Given the description of an element on the screen output the (x, y) to click on. 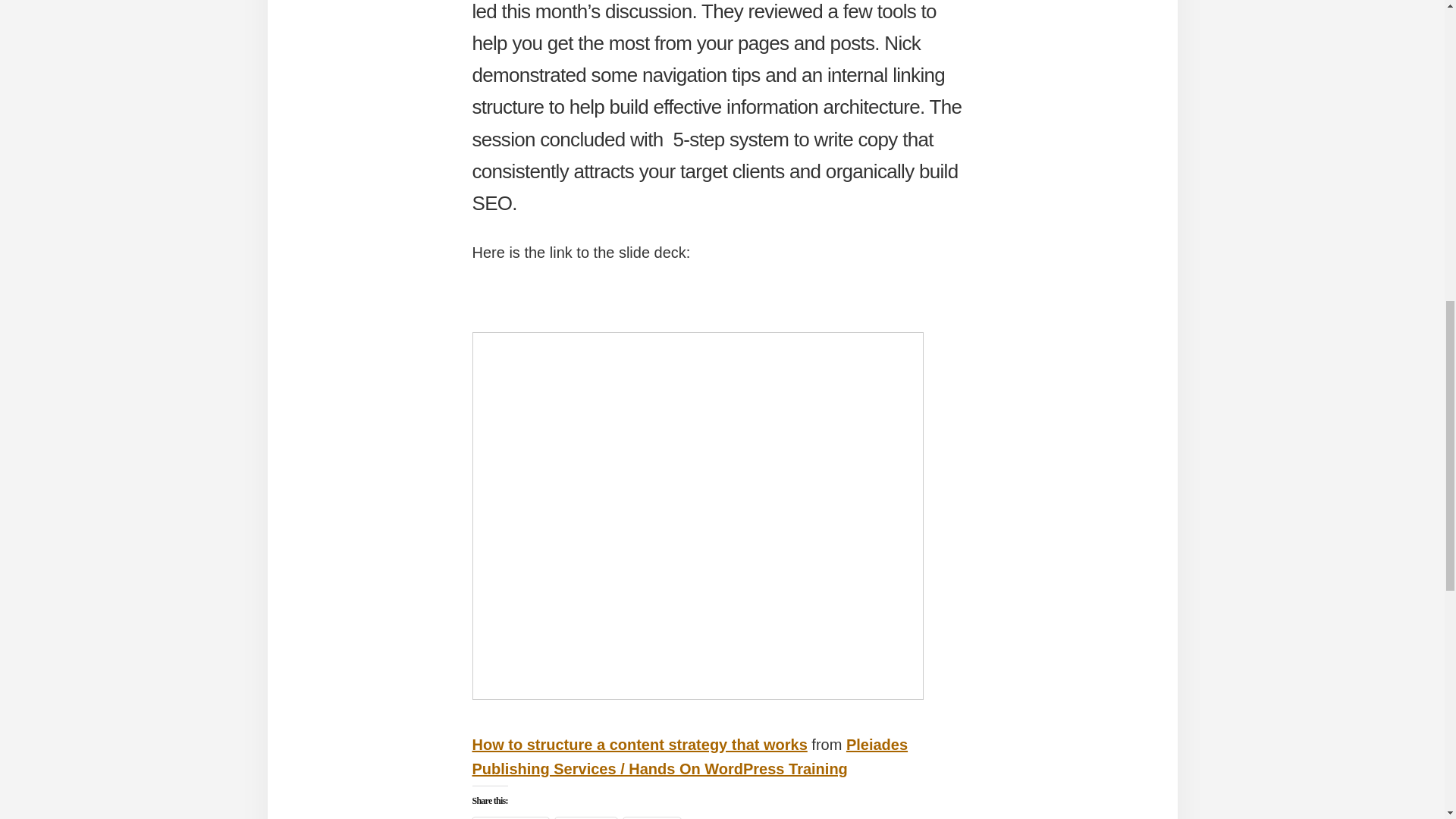
Click to email a link to a friend (652, 818)
Click to share on Facebook (509, 818)
Click to share on Twitter (585, 818)
How to structure a content strategy that works (638, 744)
Twitter (585, 818)
Facebook (509, 818)
How to structure a content strategy that works (638, 744)
Email (652, 818)
